Given the description of an element on the screen output the (x, y) to click on. 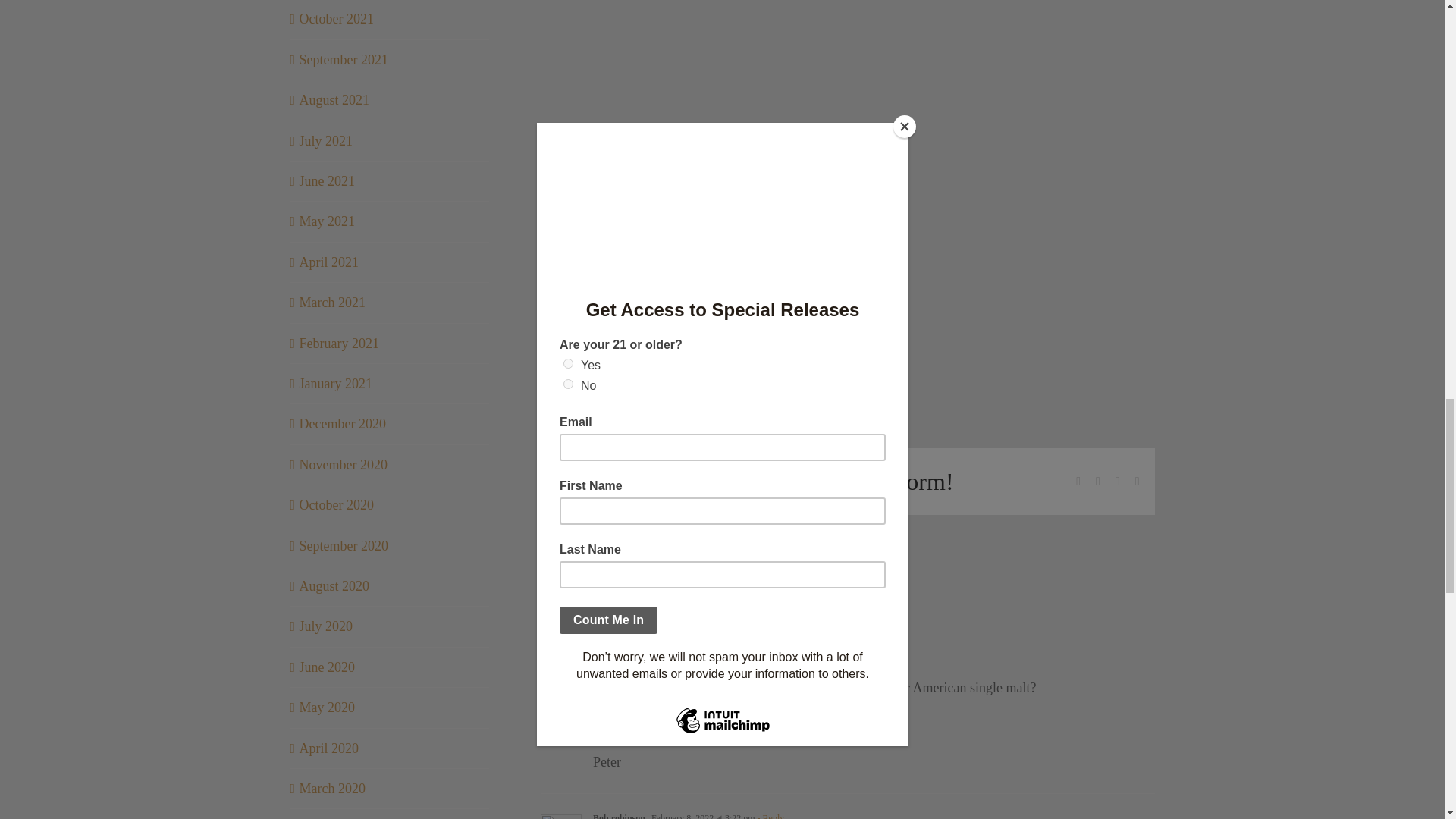
- Reply (769, 816)
- Reply (773, 607)
